Given the description of an element on the screen output the (x, y) to click on. 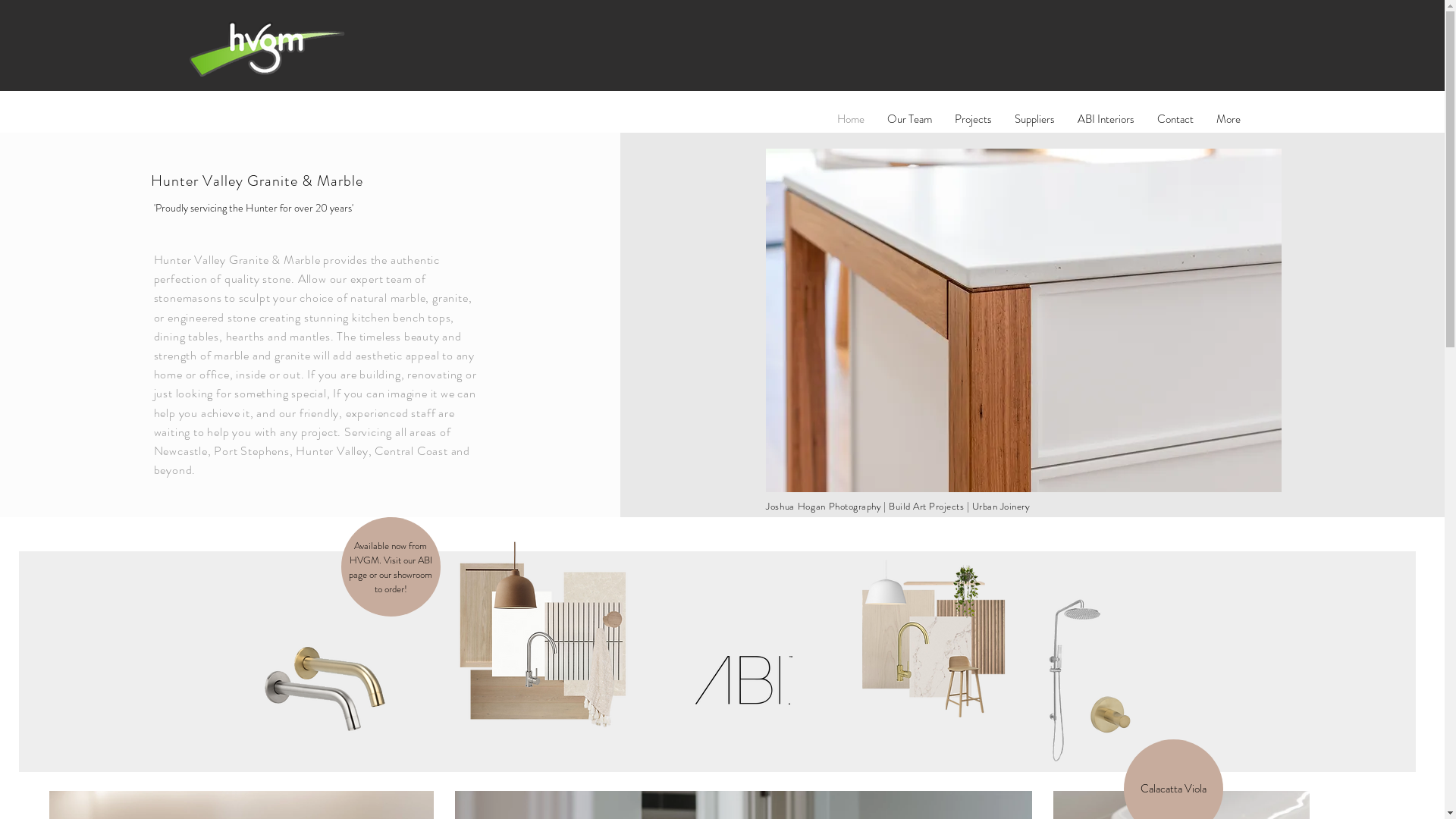
Projects Element type: text (973, 118)
Contact Element type: text (1174, 118)
Home Element type: text (850, 118)
Cutting Edge Joinery Element type: hover (1023, 320)
Our Team Element type: text (908, 118)
ABI Interiors Element type: text (1105, 118)
Suppliers Element type: text (1033, 118)
